Given the description of an element on the screen output the (x, y) to click on. 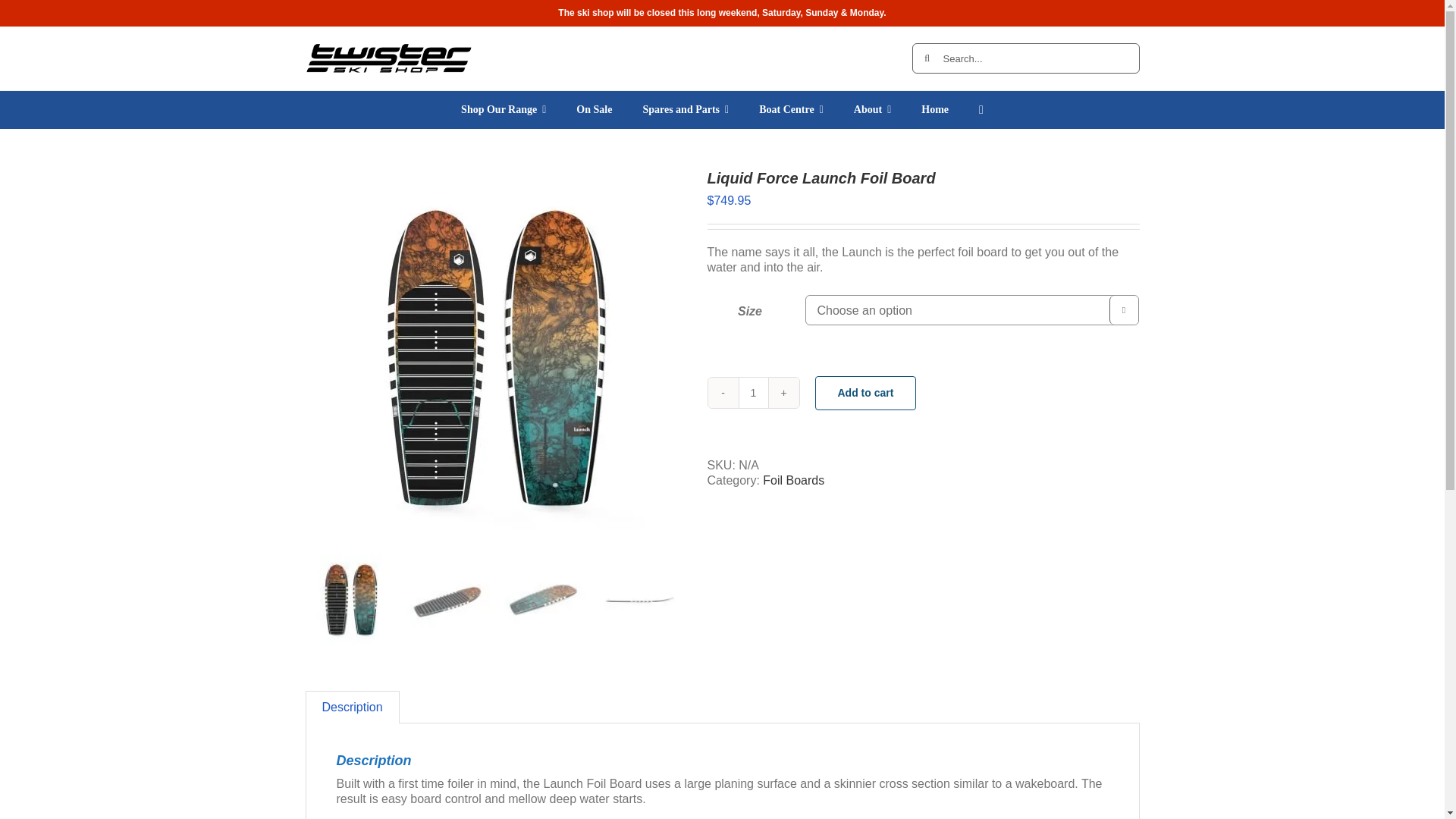
Spares and Parts (685, 109)
Shop Our Range (502, 109)
1 (753, 392)
Boat Centre (791, 109)
On Sale (593, 109)
- (722, 392)
